Given the description of an element on the screen output the (x, y) to click on. 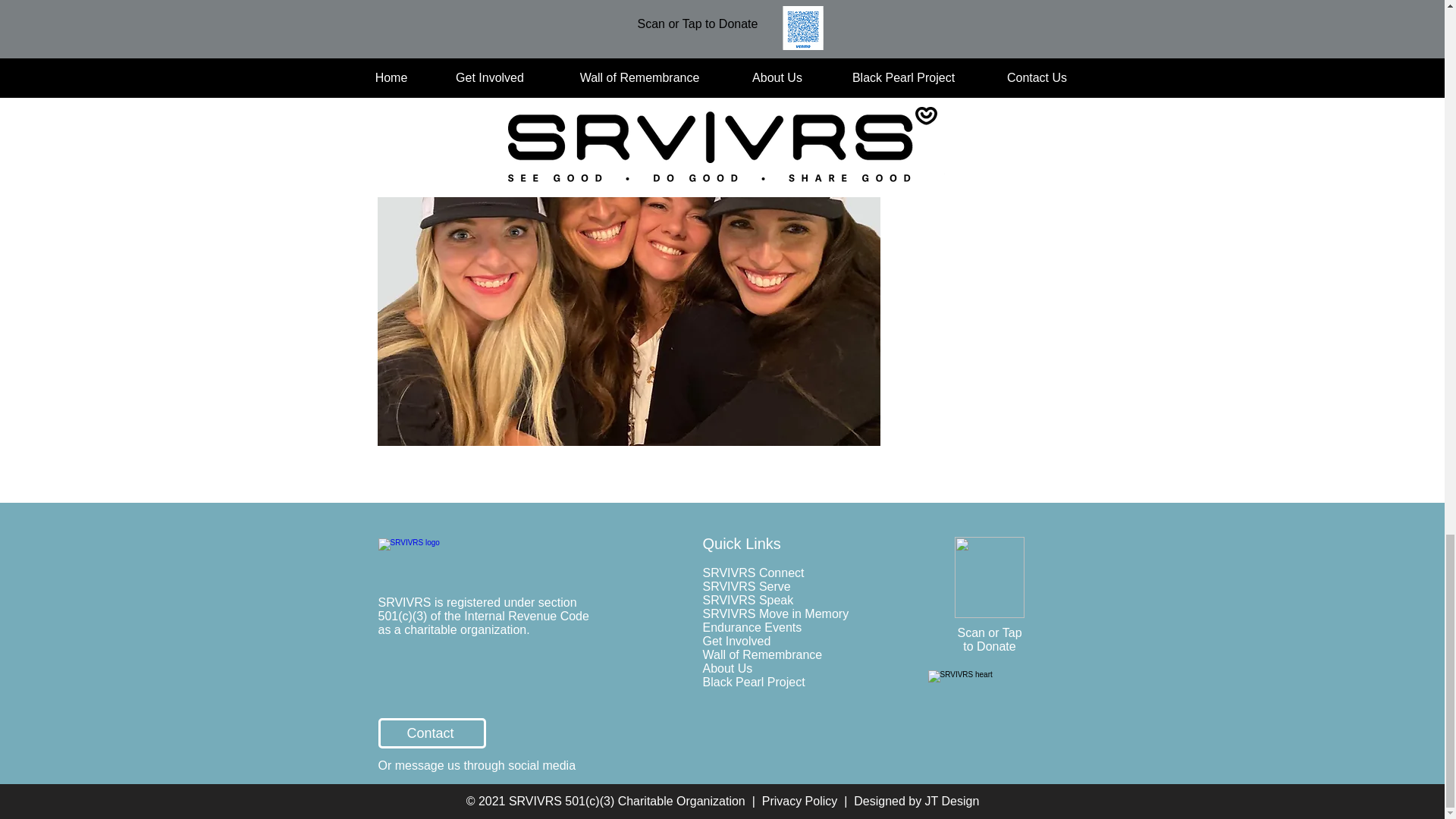
About Us (726, 667)
SRVIVRS Move in Memory (774, 613)
SRVIVRS Connect (752, 572)
SRVIVRS Speak (747, 599)
Black Pearl Project (753, 681)
JT Design (949, 800)
Privacy Policy (799, 800)
SRVIVRS Serve (745, 585)
Endurance Events (751, 626)
Get Involved (735, 642)
